Given the description of an element on the screen output the (x, y) to click on. 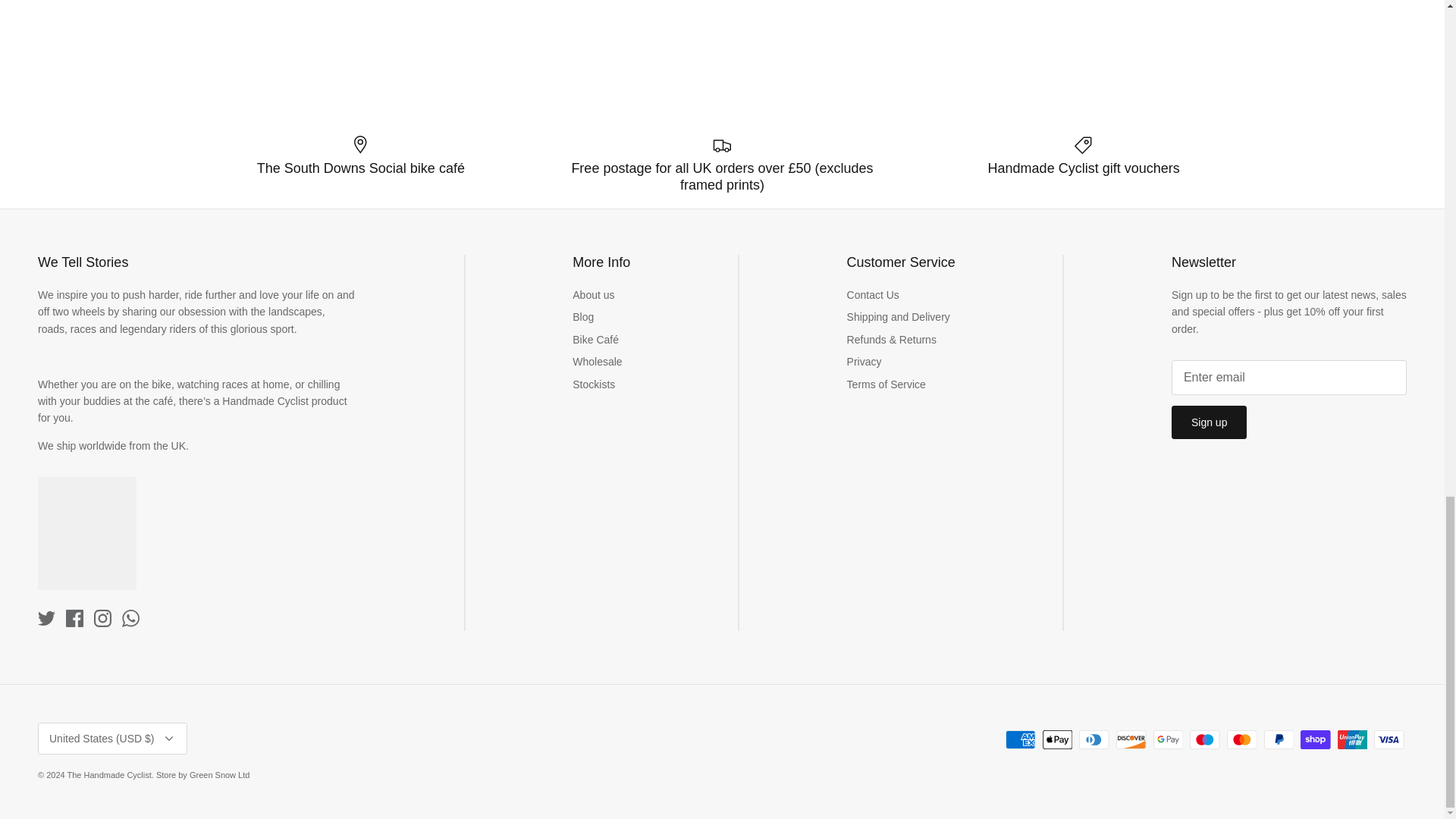
Twitter (46, 618)
Facebook (73, 618)
Instagram (103, 618)
